Given the description of an element on the screen output the (x, y) to click on. 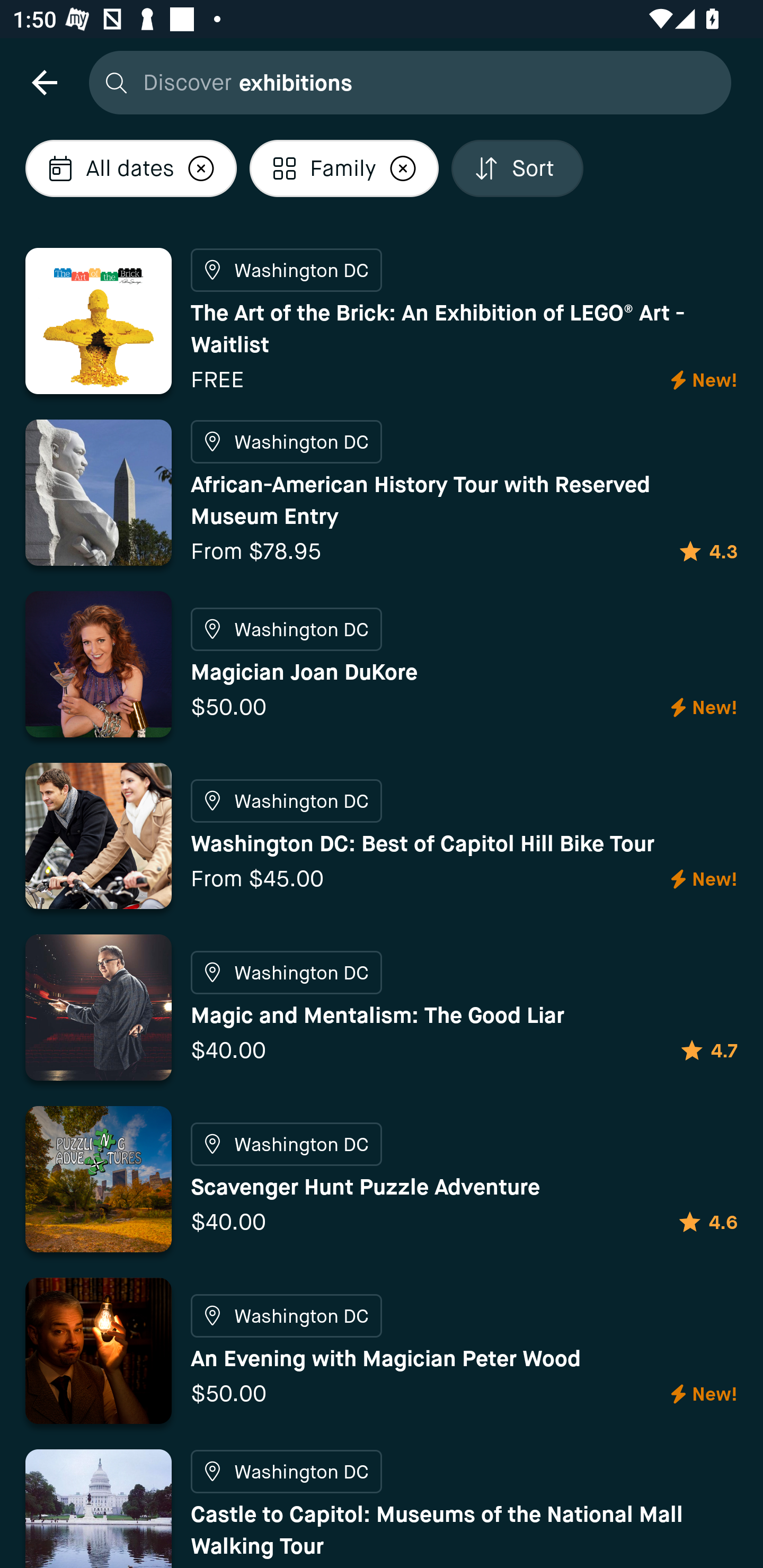
navigation icon (44, 81)
Discover exhibitions (405, 81)
Localized description (201, 168)
Localized description Family Localized description (343, 168)
Localized description (402, 168)
Localized description Sort (517, 168)
